Given the description of an element on the screen output the (x, y) to click on. 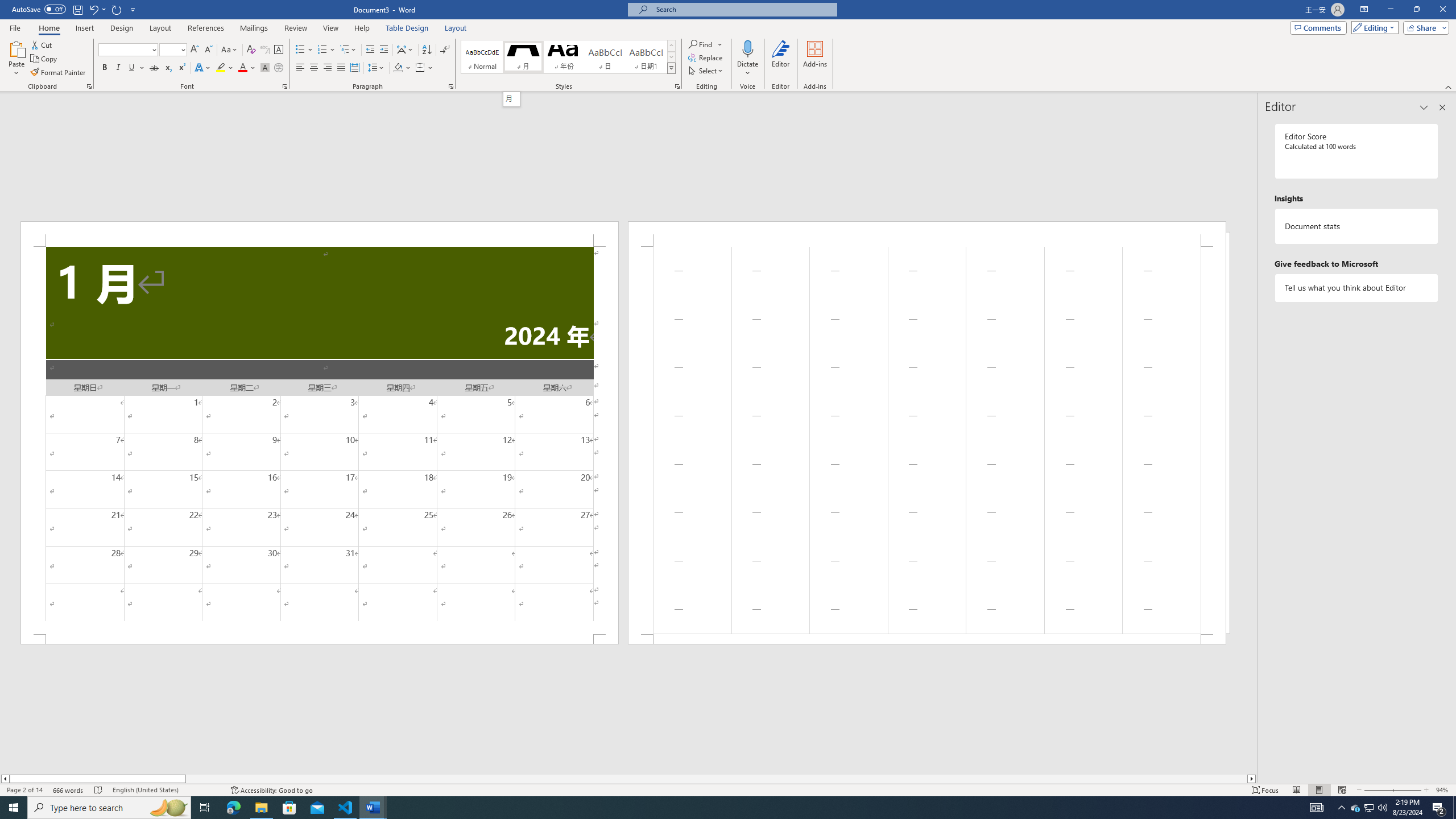
Table Design (407, 28)
Character Shading (264, 67)
Text Effects and Typography (202, 67)
Shading (402, 67)
Word Count 666 words (68, 790)
Multilevel List (347, 49)
